Given the description of an element on the screen output the (x, y) to click on. 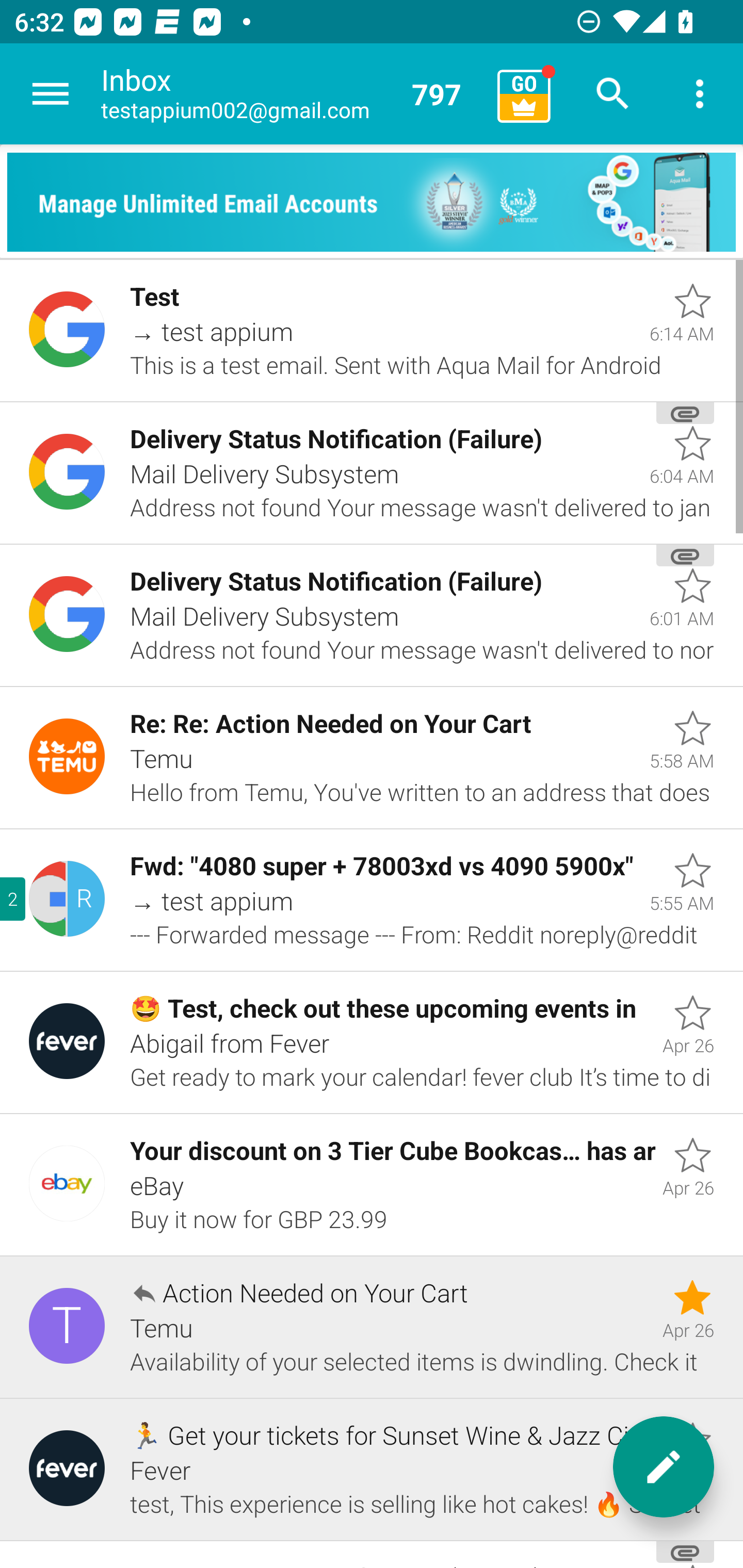
Navigate up (50, 93)
Inbox testappium002@gmail.com 797 (291, 93)
Search (612, 93)
More options (699, 93)
New message (663, 1466)
